Given the description of an element on the screen output the (x, y) to click on. 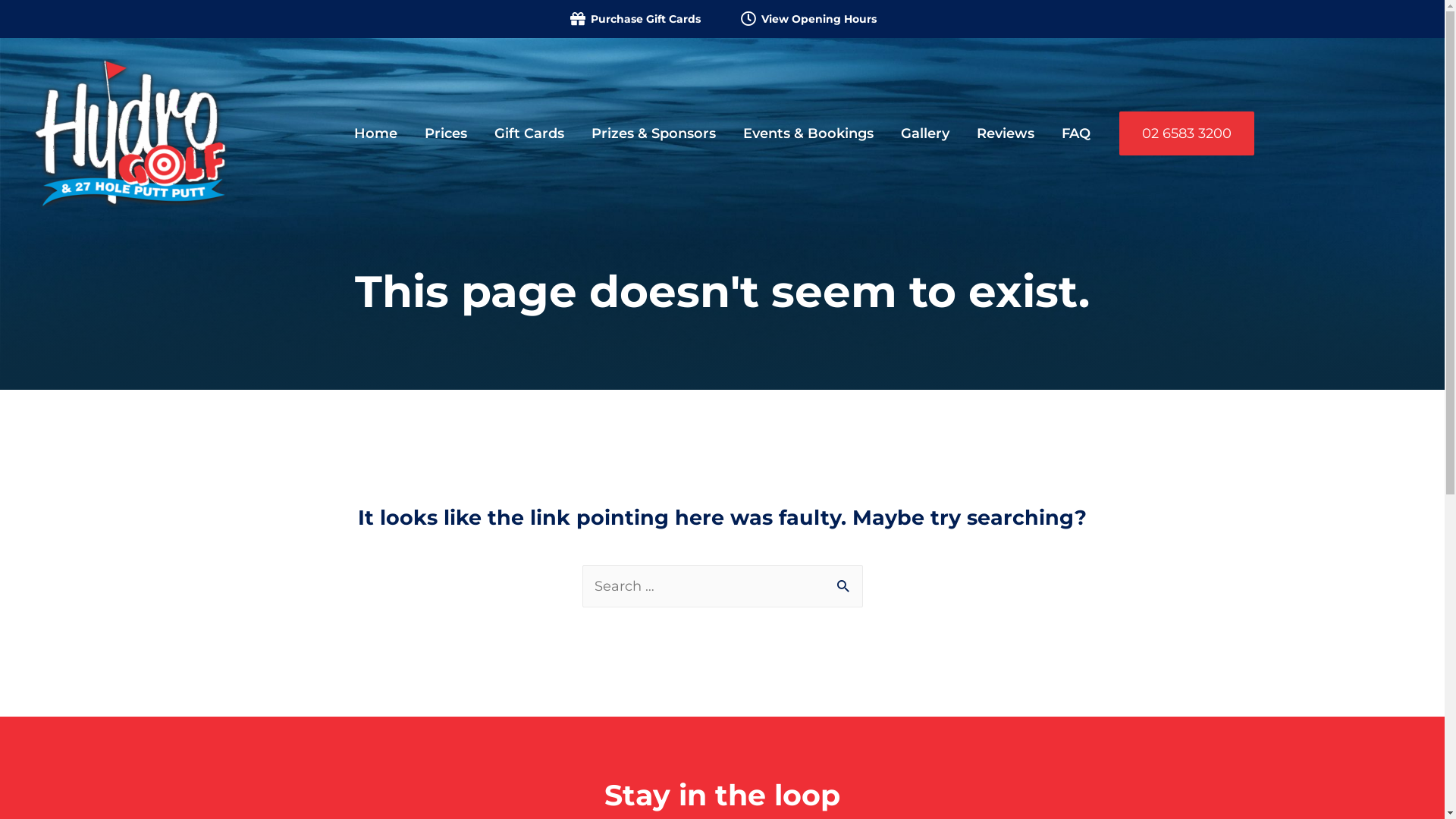
View Opening Hours Element type: text (807, 18)
Events & Bookings Element type: text (808, 133)
Search Element type: text (845, 581)
Gift Cards Element type: text (528, 133)
Home Element type: text (375, 133)
Prizes & Sponsors Element type: text (653, 133)
Reviews Element type: text (1005, 133)
FAQ Element type: text (1076, 133)
Purchase Gift Cards Element type: text (633, 18)
02 6583 3200 Element type: text (1186, 133)
Gallery Element type: text (925, 133)
Prices Element type: text (445, 133)
